Given the description of an element on the screen output the (x, y) to click on. 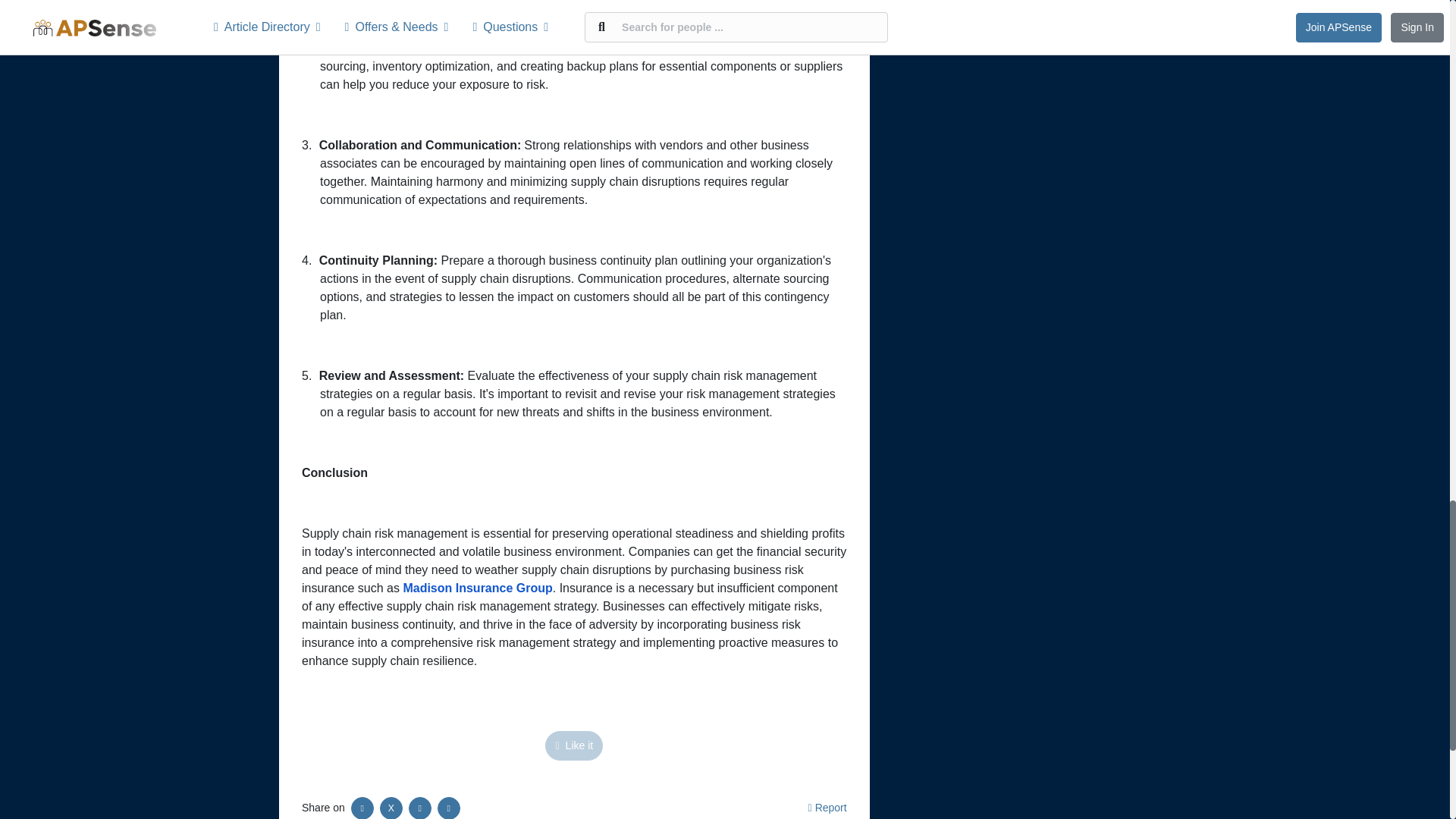
Report (827, 807)
Like it (573, 745)
Madison Insurance Group (477, 587)
X (391, 807)
